Given the description of an element on the screen output the (x, y) to click on. 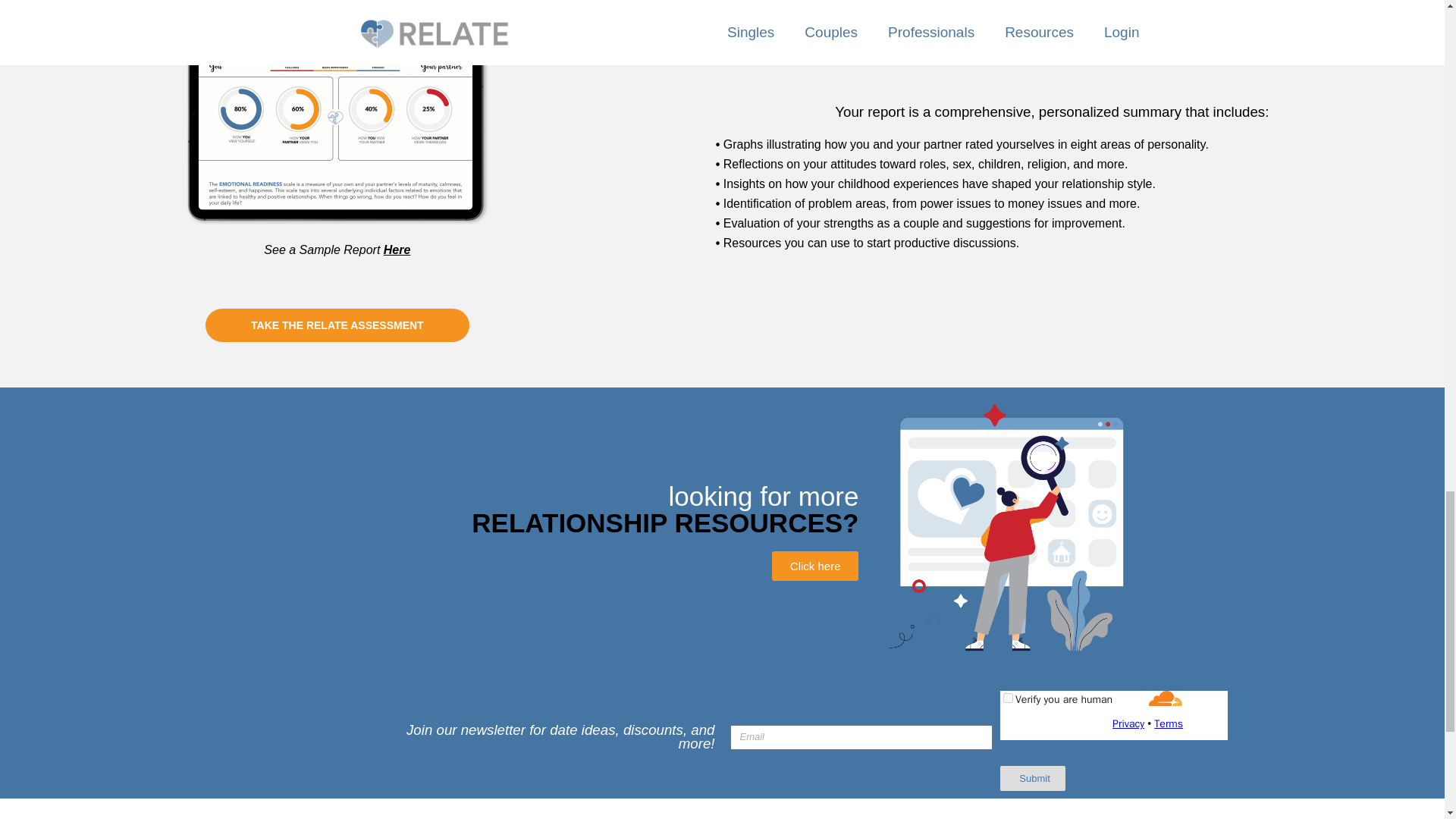
Relate Report Ipad mockup jun 2020 (337, 114)
